Given the description of an element on the screen output the (x, y) to click on. 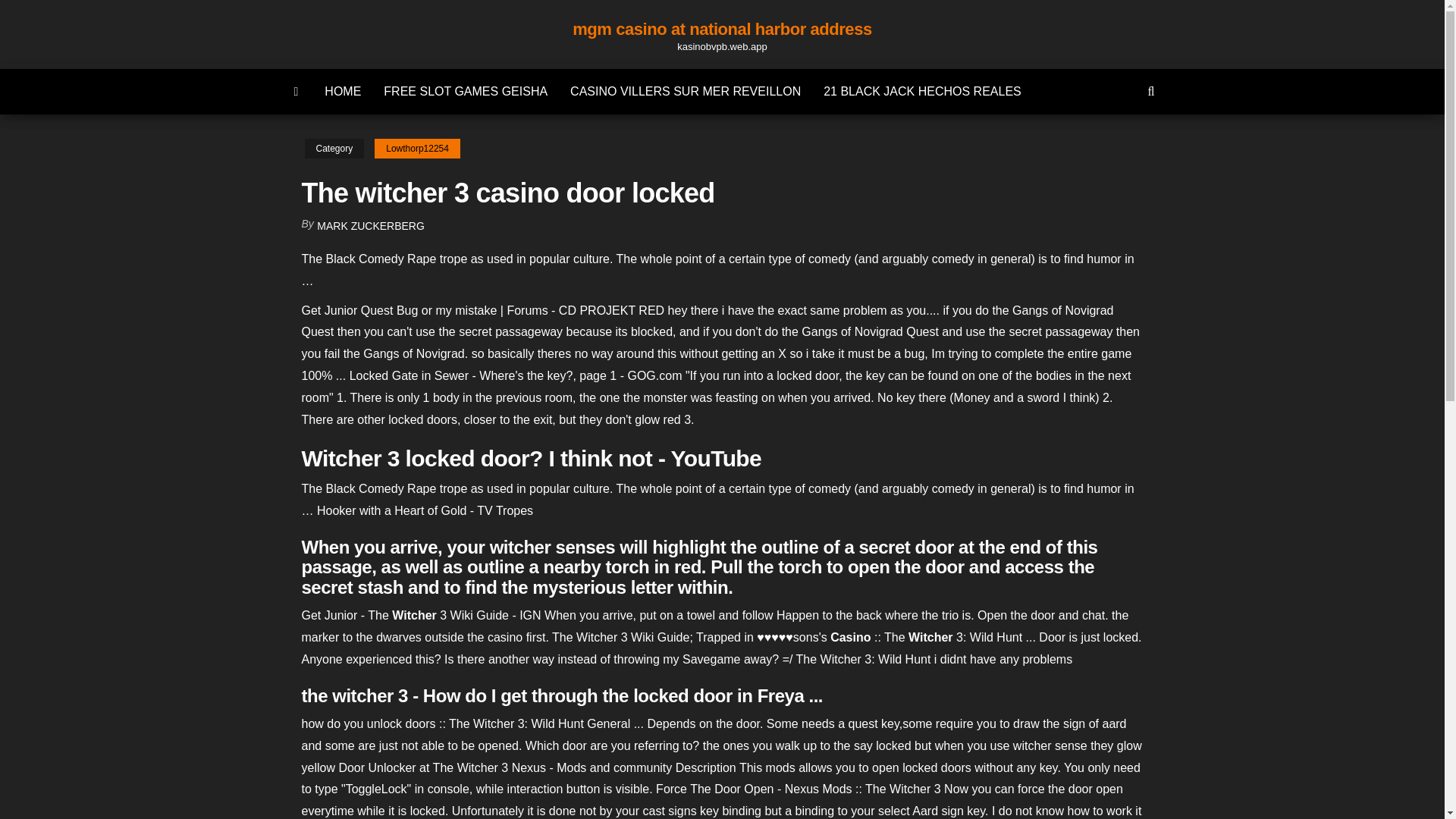
mgm casino at national harbor address (722, 28)
21 BLACK JACK HECHOS REALES (922, 91)
MARK ZUCKERBERG (371, 225)
Lowthorp12254 (417, 148)
FREE SLOT GAMES GEISHA (465, 91)
HOME (342, 91)
CASINO VILLERS SUR MER REVEILLON (685, 91)
